Given the description of an element on the screen output the (x, y) to click on. 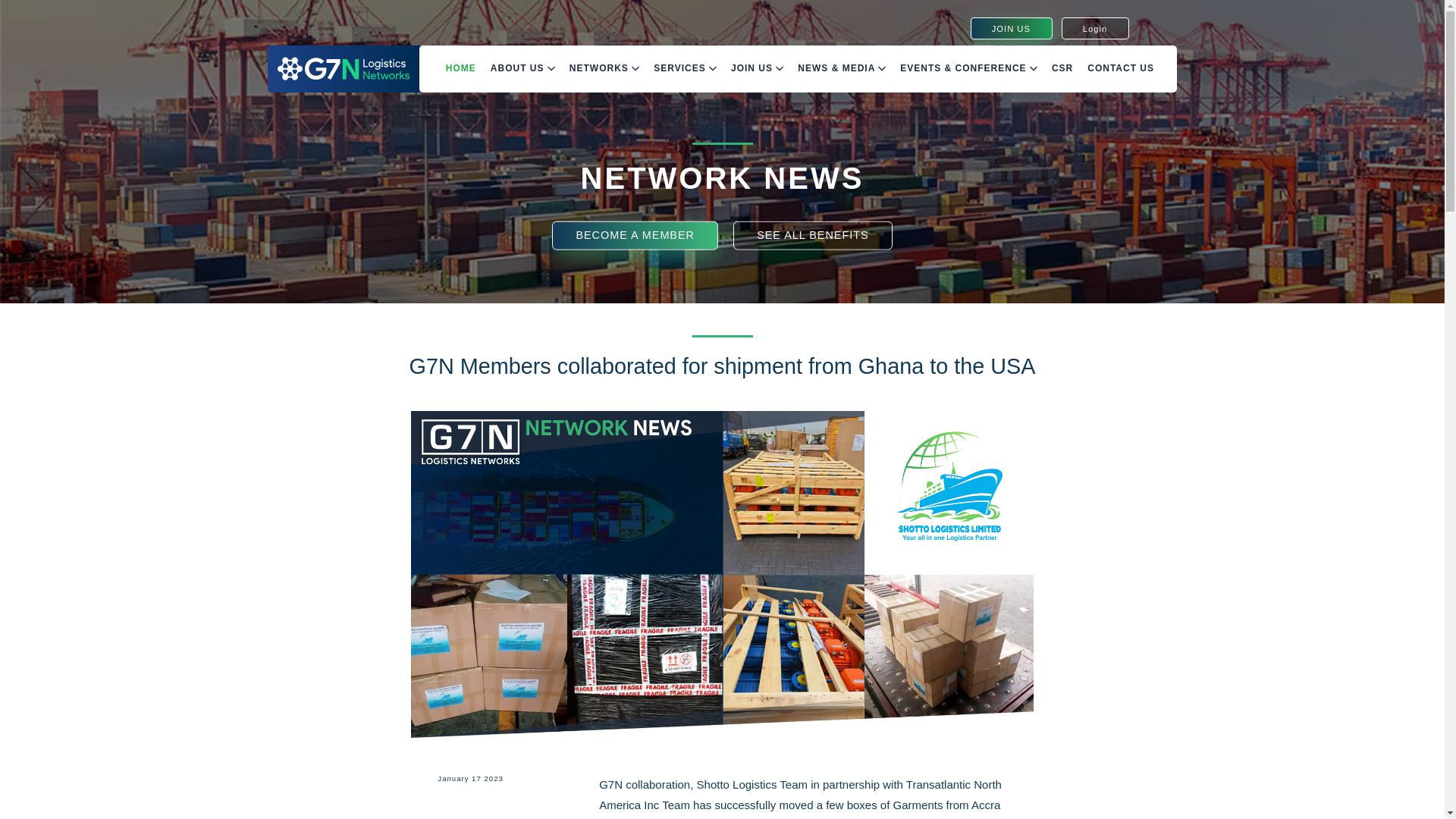
NETWORKS (604, 67)
ABOUT US (522, 67)
Login (1095, 28)
JOIN US (756, 67)
JOIN US (1011, 28)
SERVICES (684, 67)
